Given the description of an element on the screen output the (x, y) to click on. 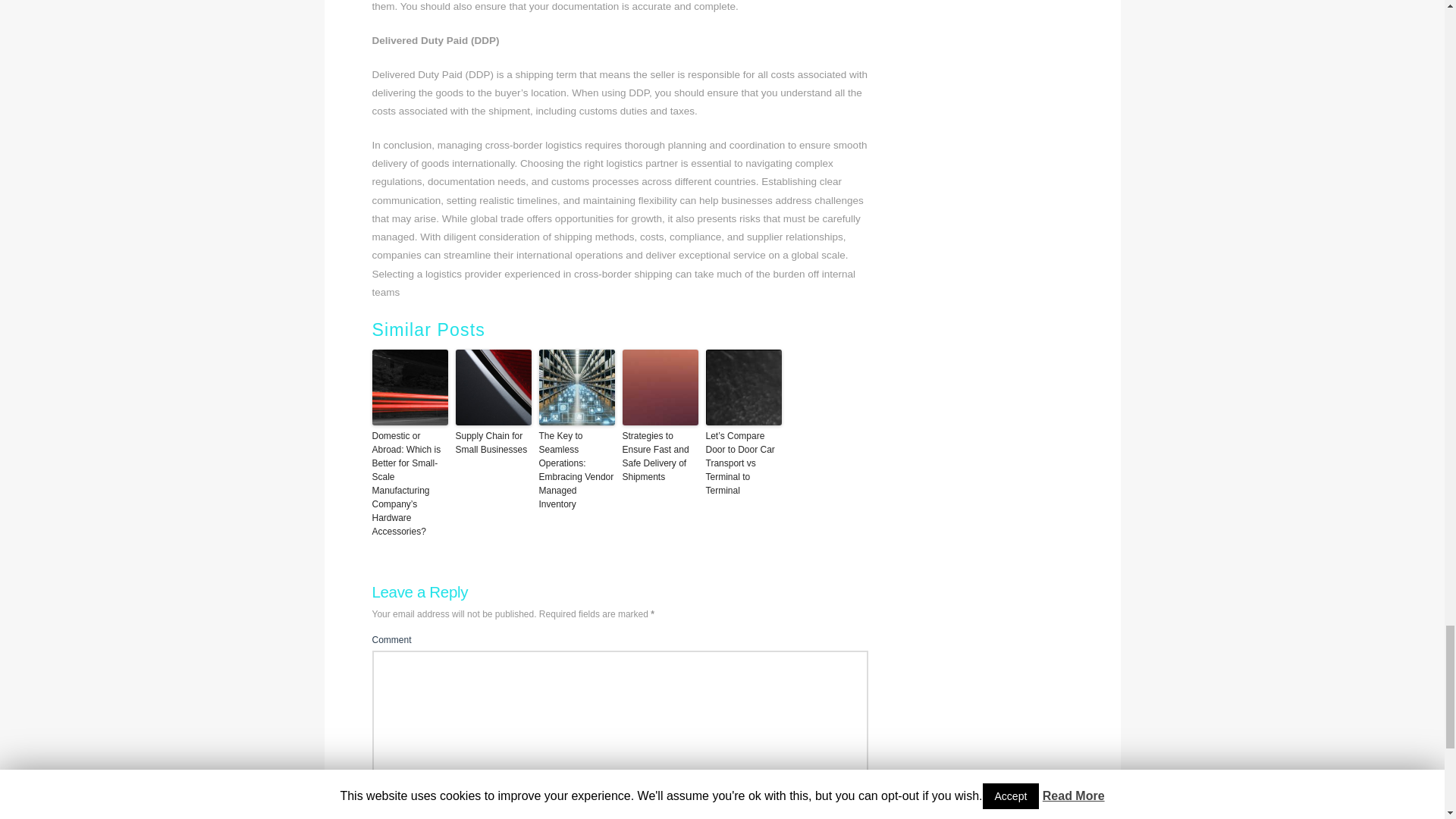
Supply Chain for Small Businesses (492, 442)
Strategies to Ensure Fast and Safe Delivery of Shipments (659, 456)
